Given the description of an element on the screen output the (x, y) to click on. 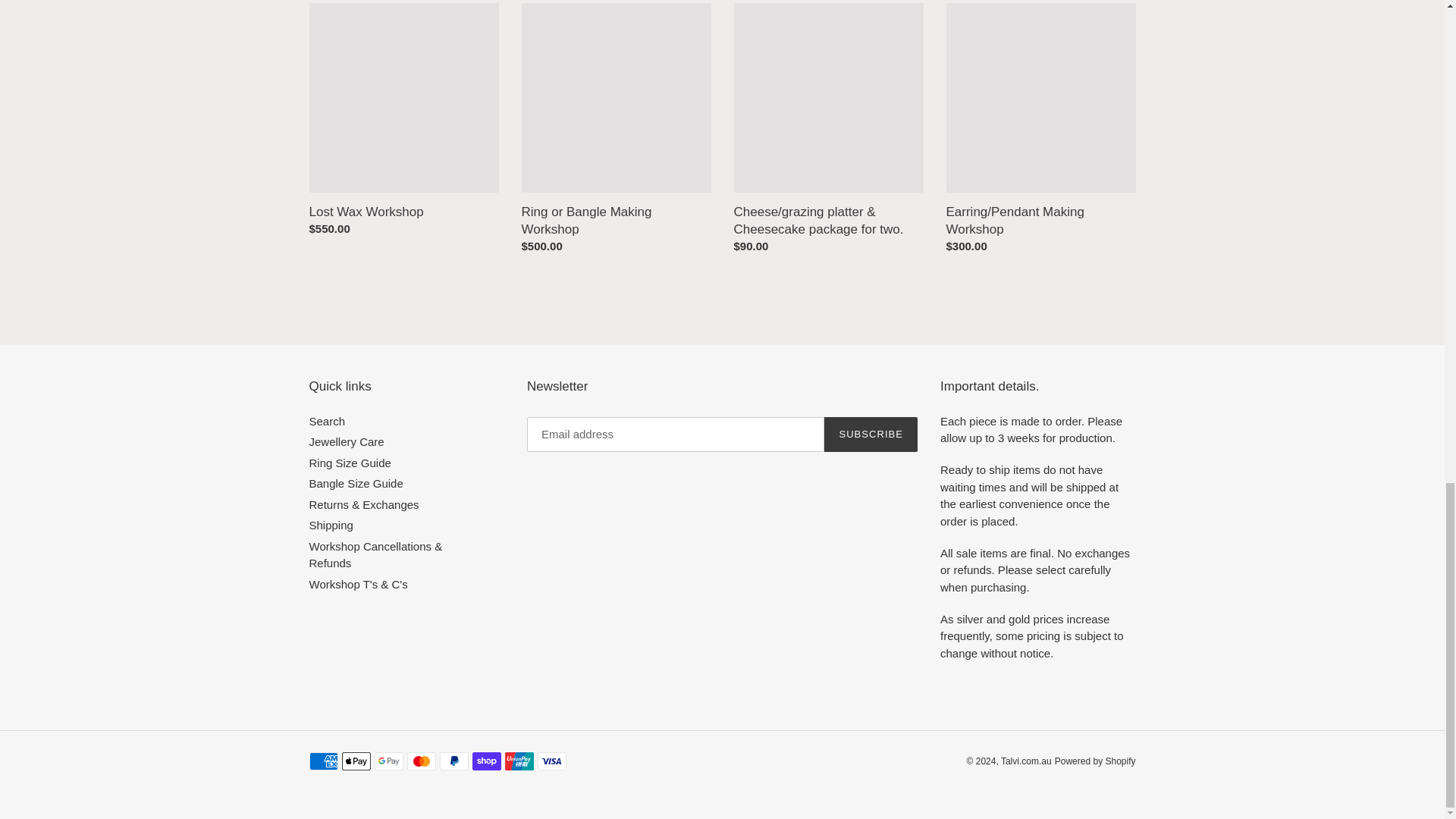
Ring Size Guide (349, 462)
Jewellery Care (346, 440)
Search (327, 420)
